Given the description of an element on the screen output the (x, y) to click on. 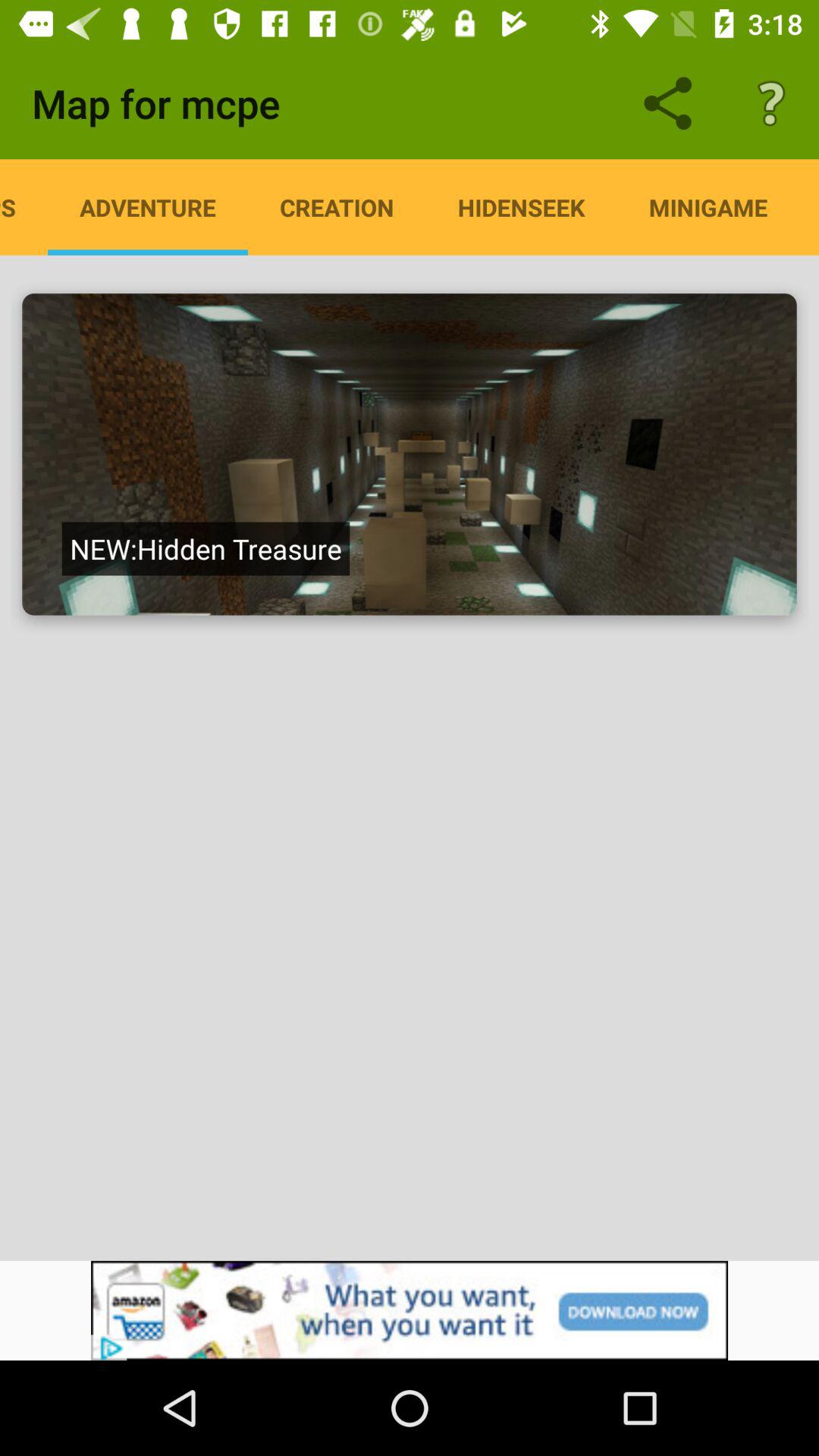
content selection (409, 454)
